Given the description of an element on the screen output the (x, y) to click on. 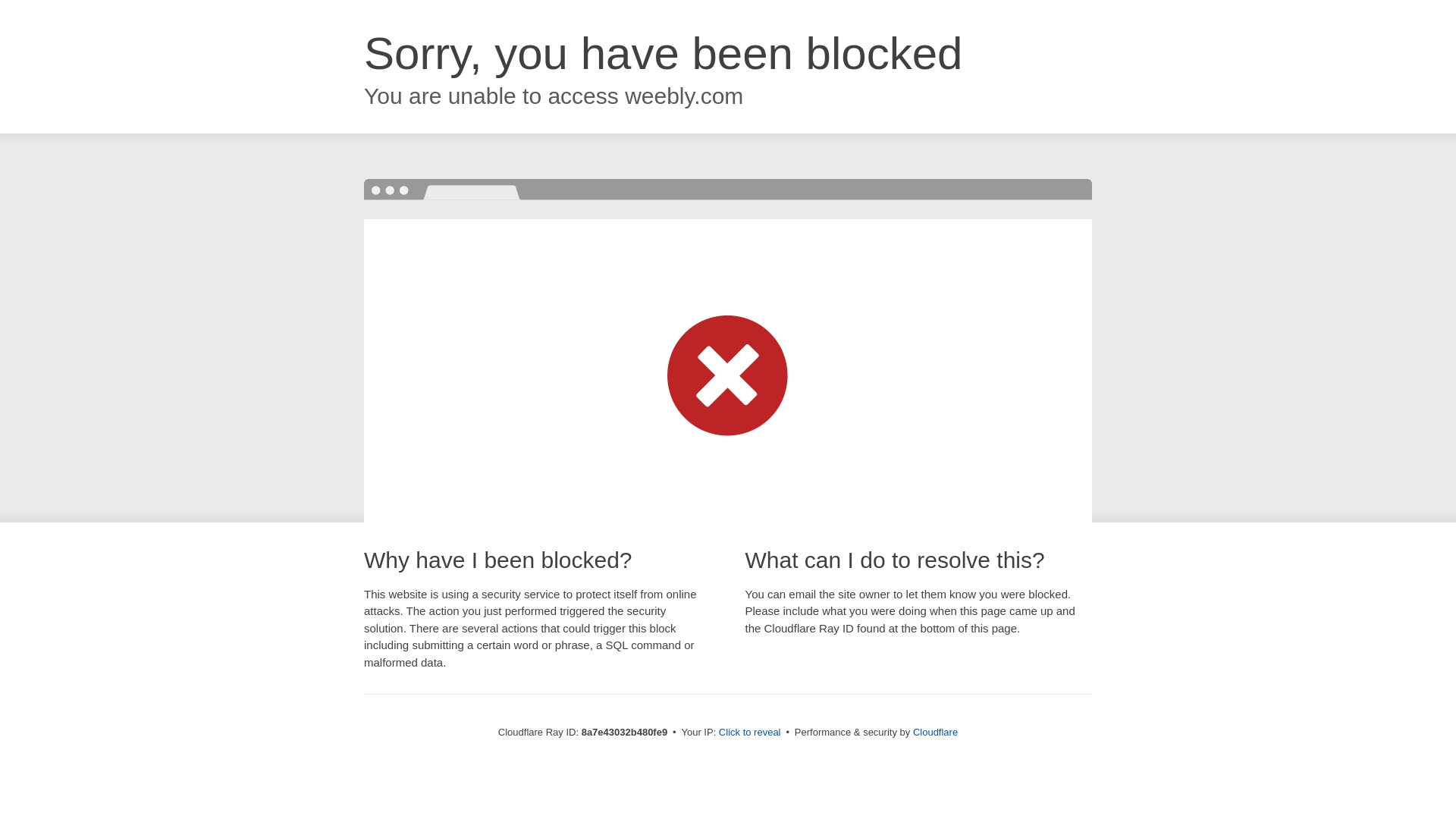
Click to reveal (749, 732)
Cloudflare (935, 731)
